Given the description of an element on the screen output the (x, y) to click on. 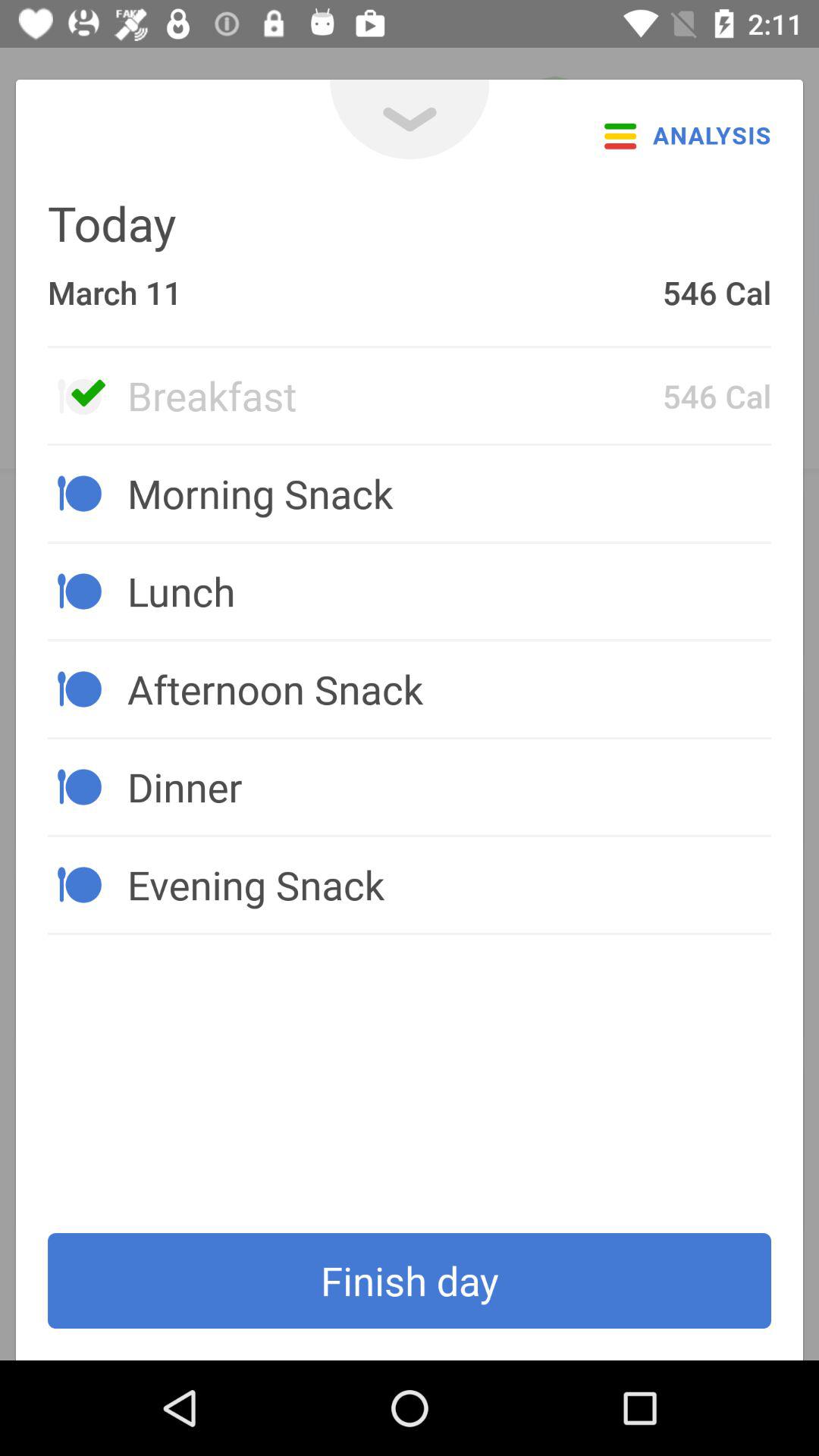
show more options (409, 119)
